Given the description of an element on the screen output the (x, y) to click on. 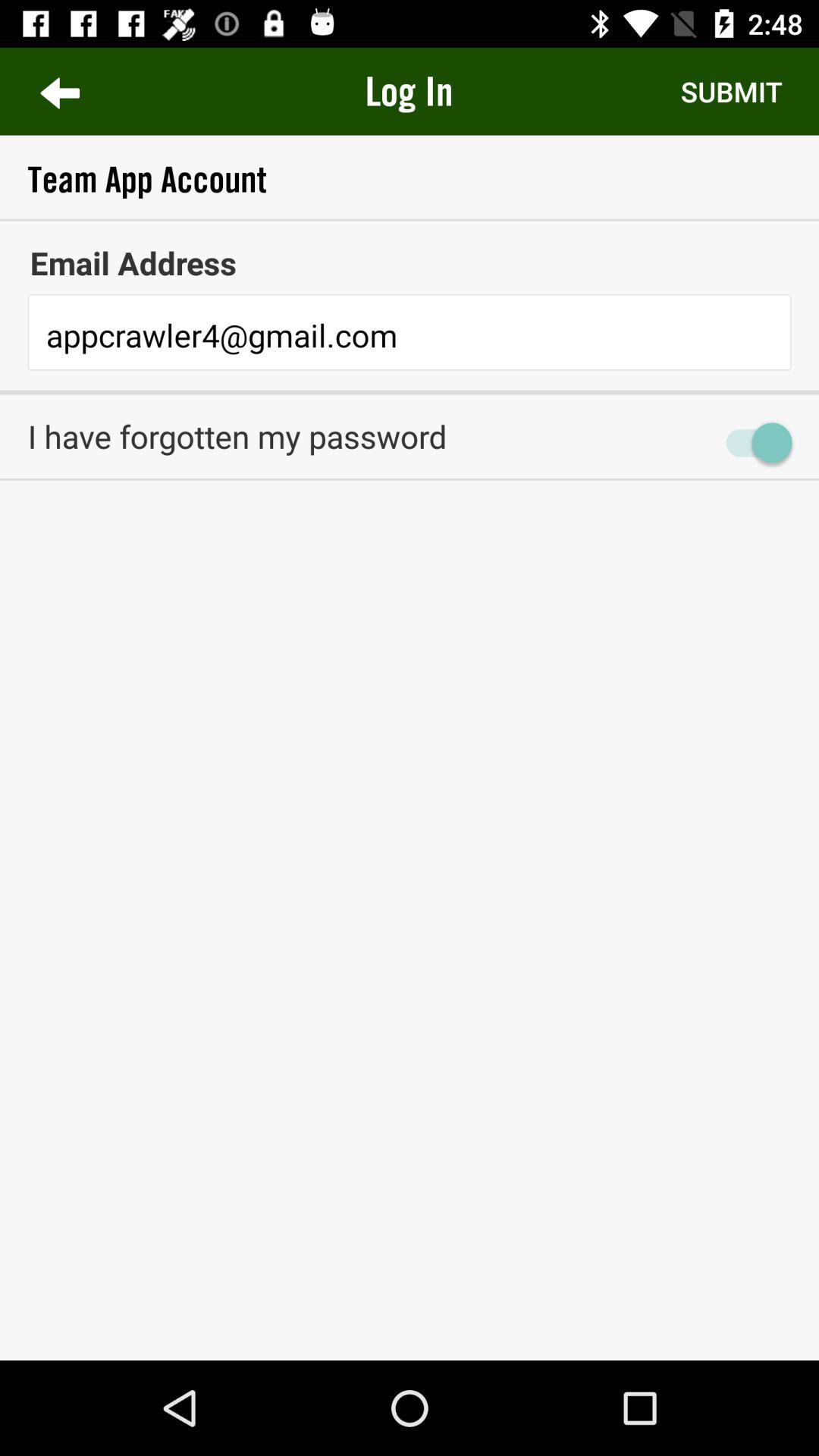
scroll to email address item (409, 262)
